Given the description of an element on the screen output the (x, y) to click on. 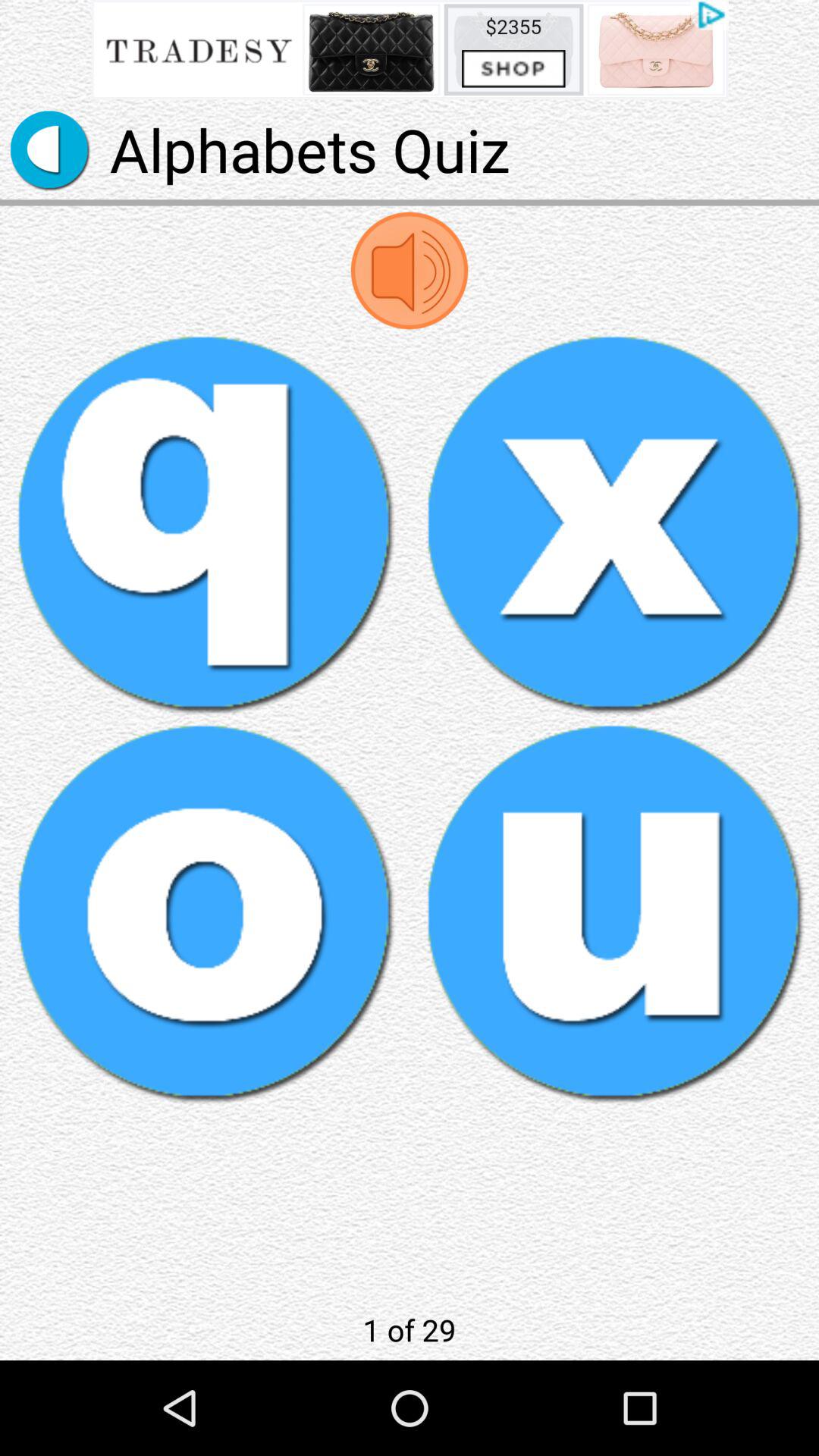
spanish quizzes (204, 523)
